Given the description of an element on the screen output the (x, y) to click on. 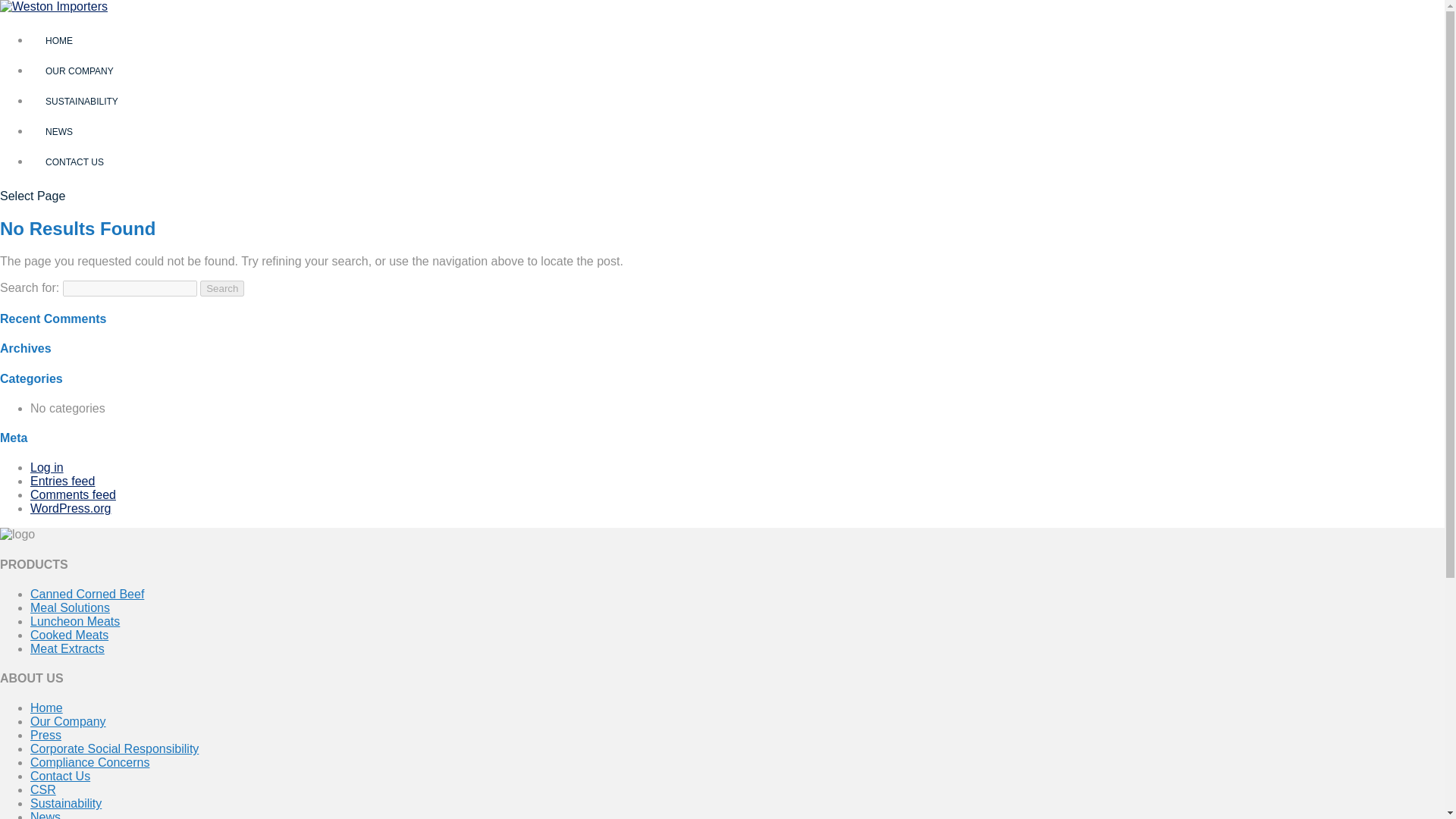
CONTACT US (74, 162)
Luncheon Meats (74, 621)
Search (222, 288)
Sustainability (65, 802)
Our Company (68, 721)
Search (222, 288)
SUSTAINABILITY (81, 101)
Meat Extracts (67, 648)
Meal Solutions (70, 607)
Contact Us (60, 775)
Entries feed (62, 481)
Cooked Meats (68, 634)
OUR COMPANY (79, 71)
Comments feed (73, 494)
Corporate Social Responsibility (114, 748)
